Given the description of an element on the screen output the (x, y) to click on. 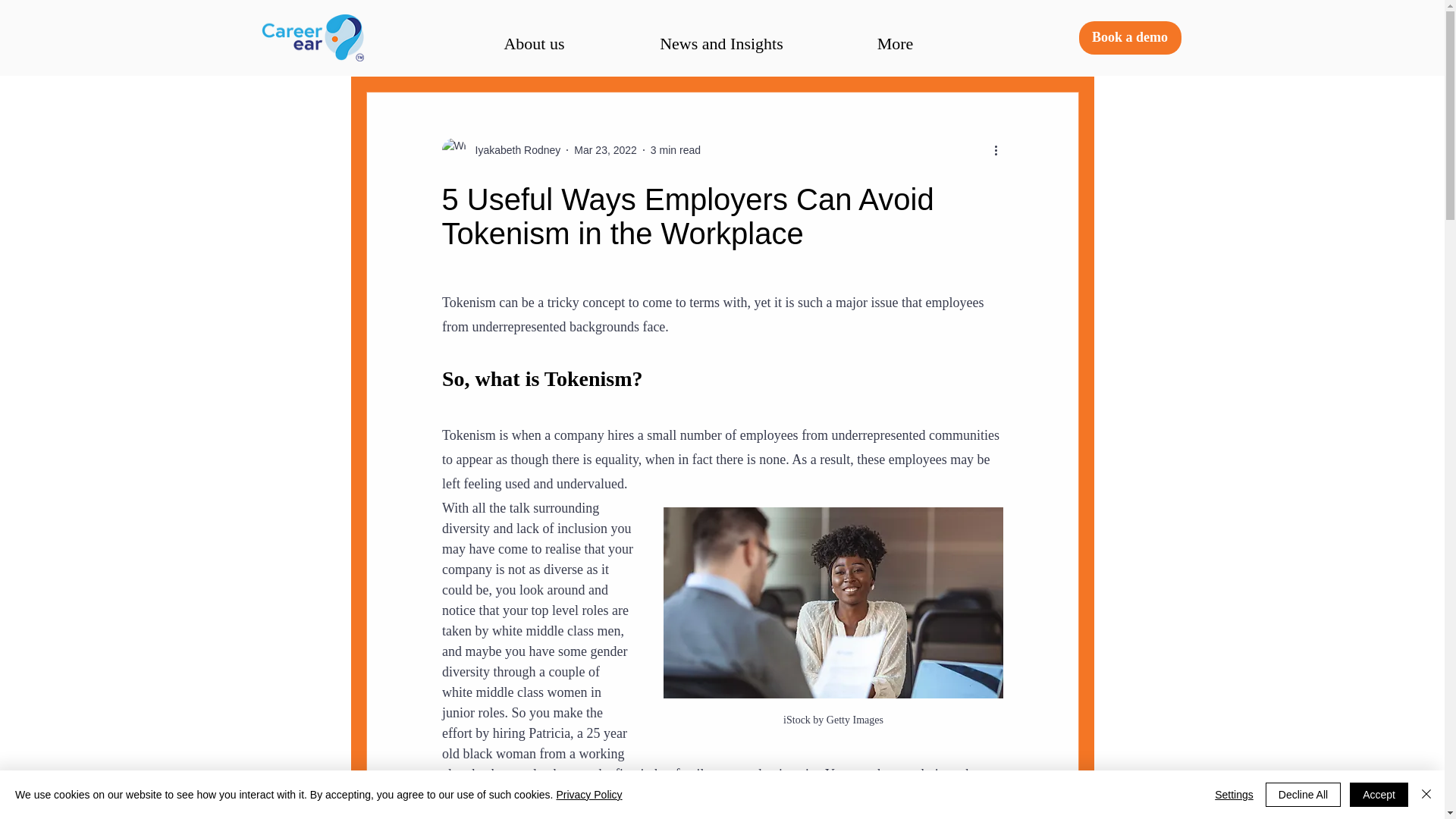
Iyakabeth Rodney (512, 150)
News and Insights (721, 43)
Book a demo (1129, 37)
Mar 23, 2022 (605, 150)
3 min read (675, 150)
About us (534, 43)
